Given the description of an element on the screen output the (x, y) to click on. 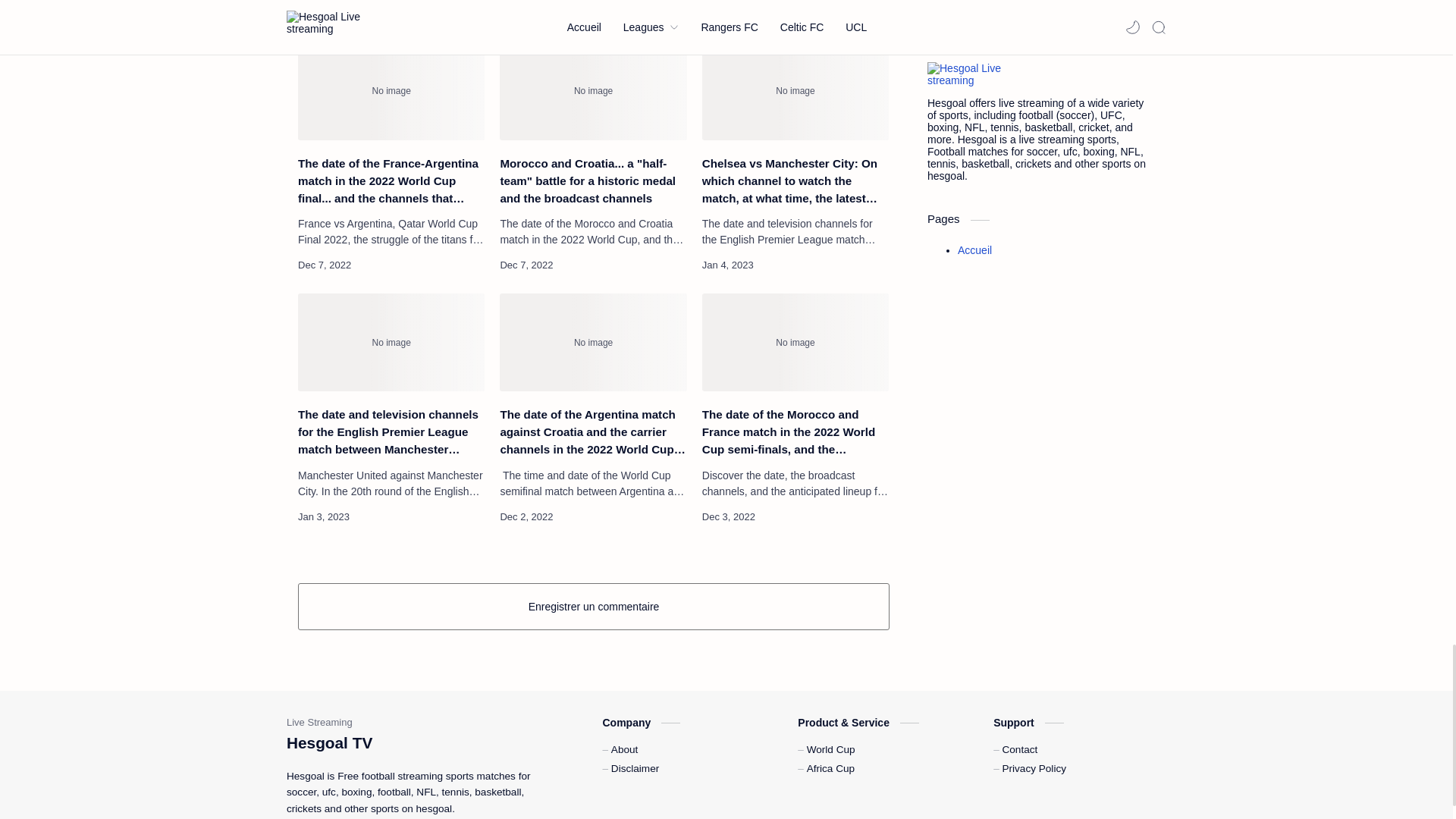
Morocco and Croatia... a  (592, 91)
